Given the description of an element on the screen output the (x, y) to click on. 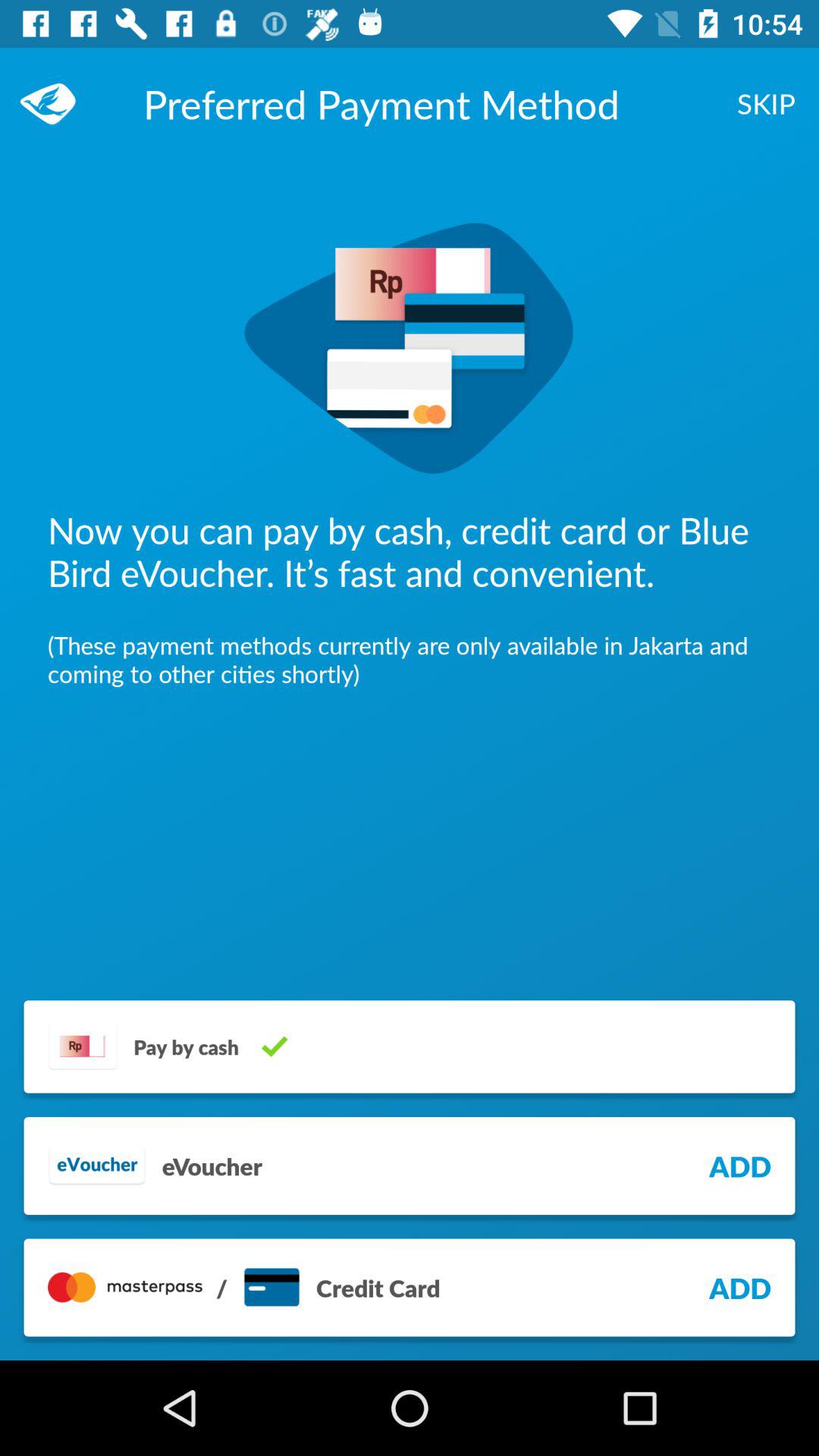
launch item next to preferred payment method (766, 103)
